Given the description of an element on the screen output the (x, y) to click on. 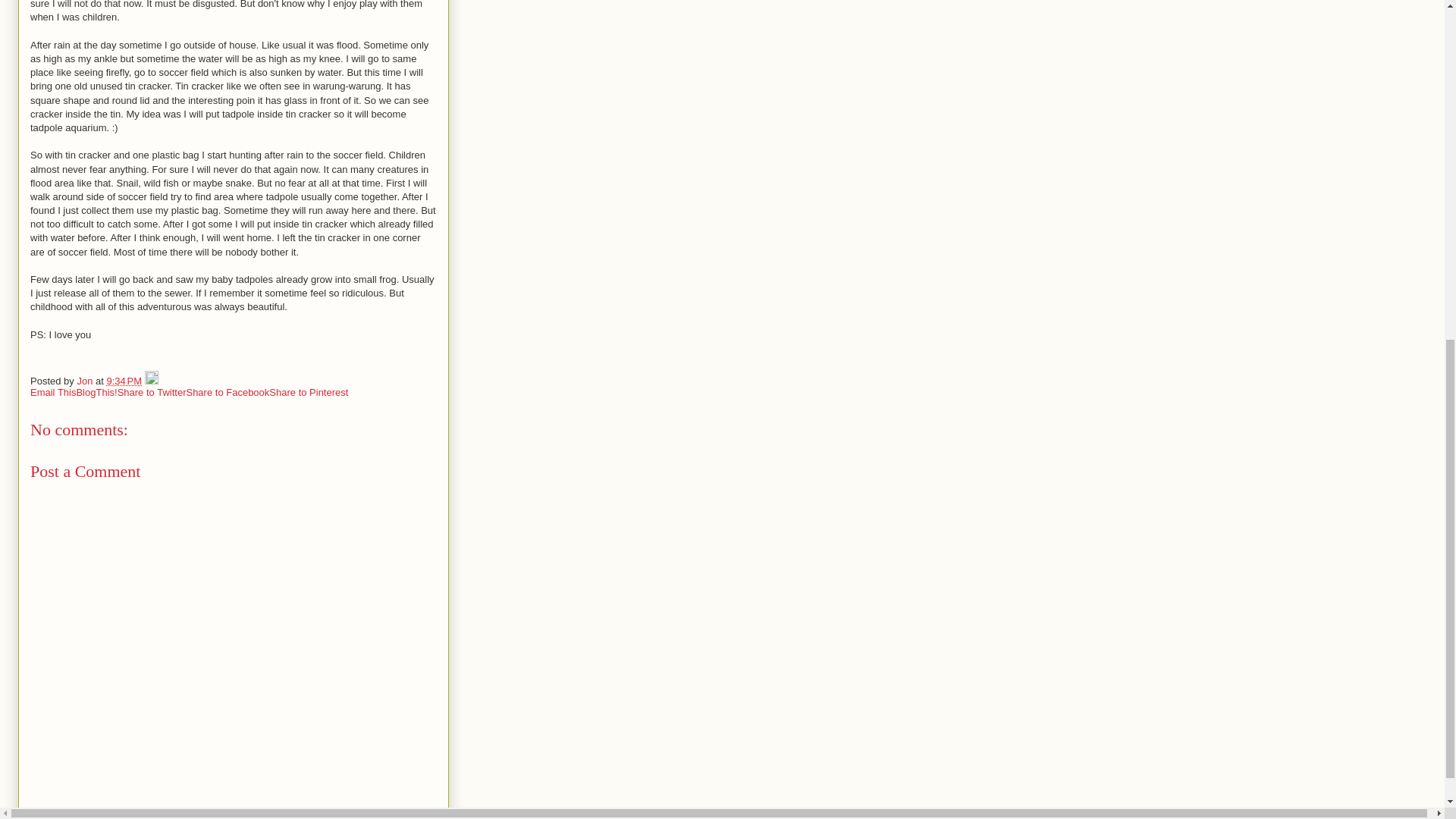
Share to Facebook (227, 392)
Share to Pinterest (308, 392)
Share to Facebook (227, 392)
BlogThis! (95, 392)
Share to Twitter (151, 392)
Share to Twitter (151, 392)
Edit Post (151, 380)
permanent link (123, 380)
BlogThis! (95, 392)
Jon (86, 380)
